Given the description of an element on the screen output the (x, y) to click on. 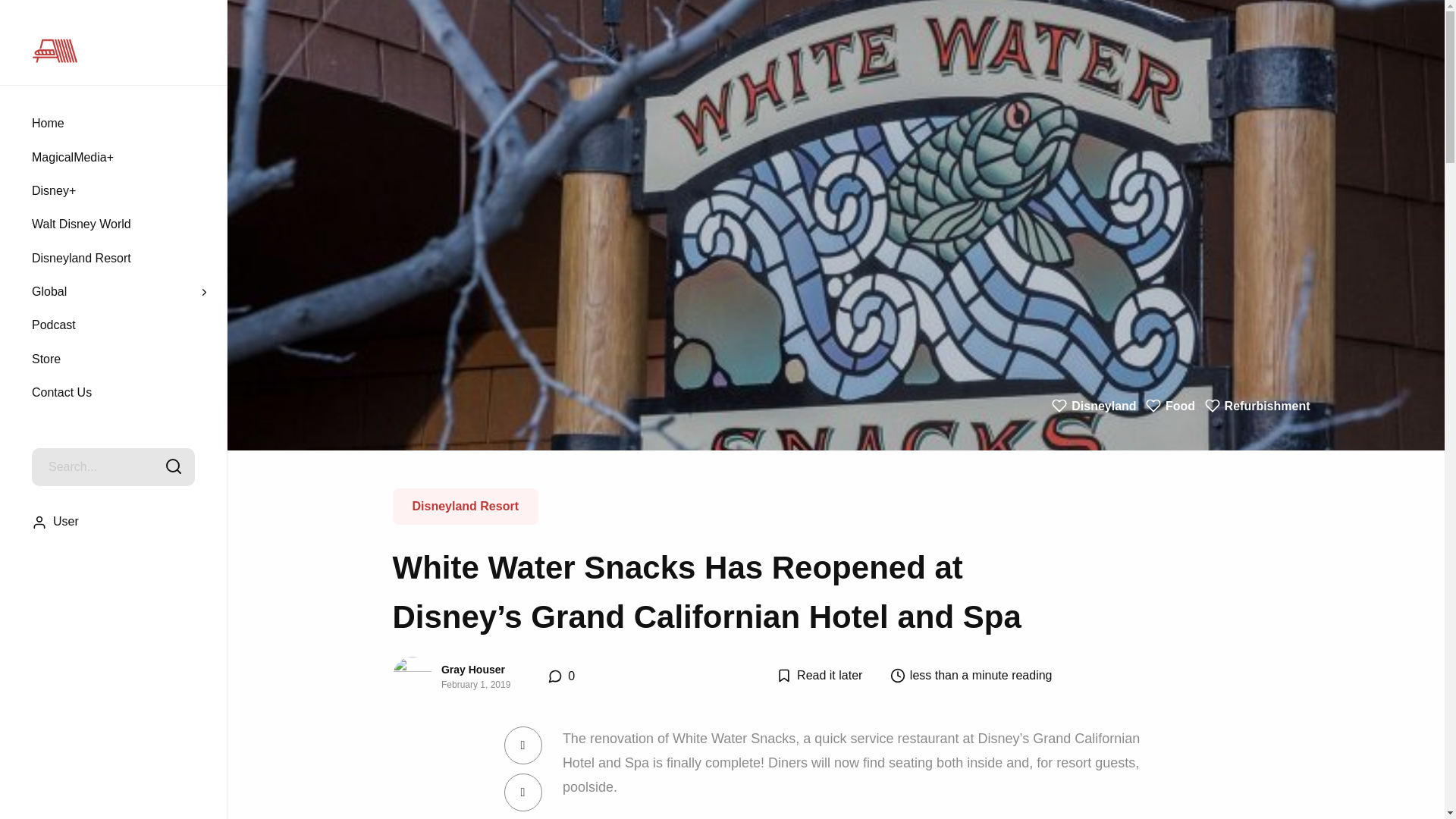
Store (121, 359)
Disneyland Resort (465, 506)
Contact Us (124, 392)
Log In (722, 424)
Share this post on Twitter (522, 792)
Walt Disney World (65, 224)
cropped-Icon.png - Monorail News (55, 50)
Disneyland Resort (72, 257)
Podcast (118, 325)
Home (46, 123)
Global (61, 291)
Create account (722, 469)
Share this post on Facebook (522, 745)
